Given the description of an element on the screen output the (x, y) to click on. 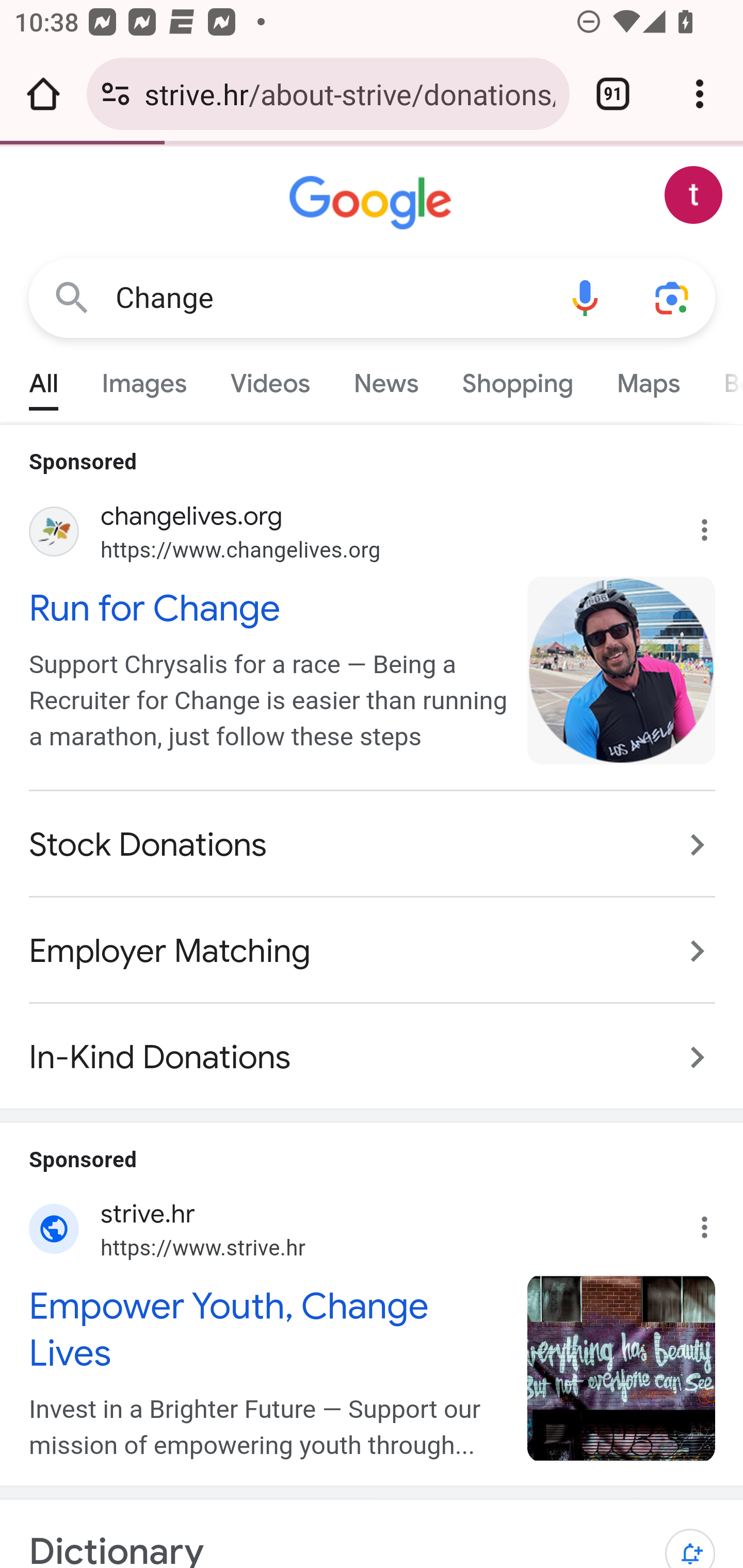
Open the home page (43, 93)
Connection is secure (115, 93)
Switch or close tabs (612, 93)
Customize and control Google Chrome (699, 93)
